Given the description of an element on the screen output the (x, y) to click on. 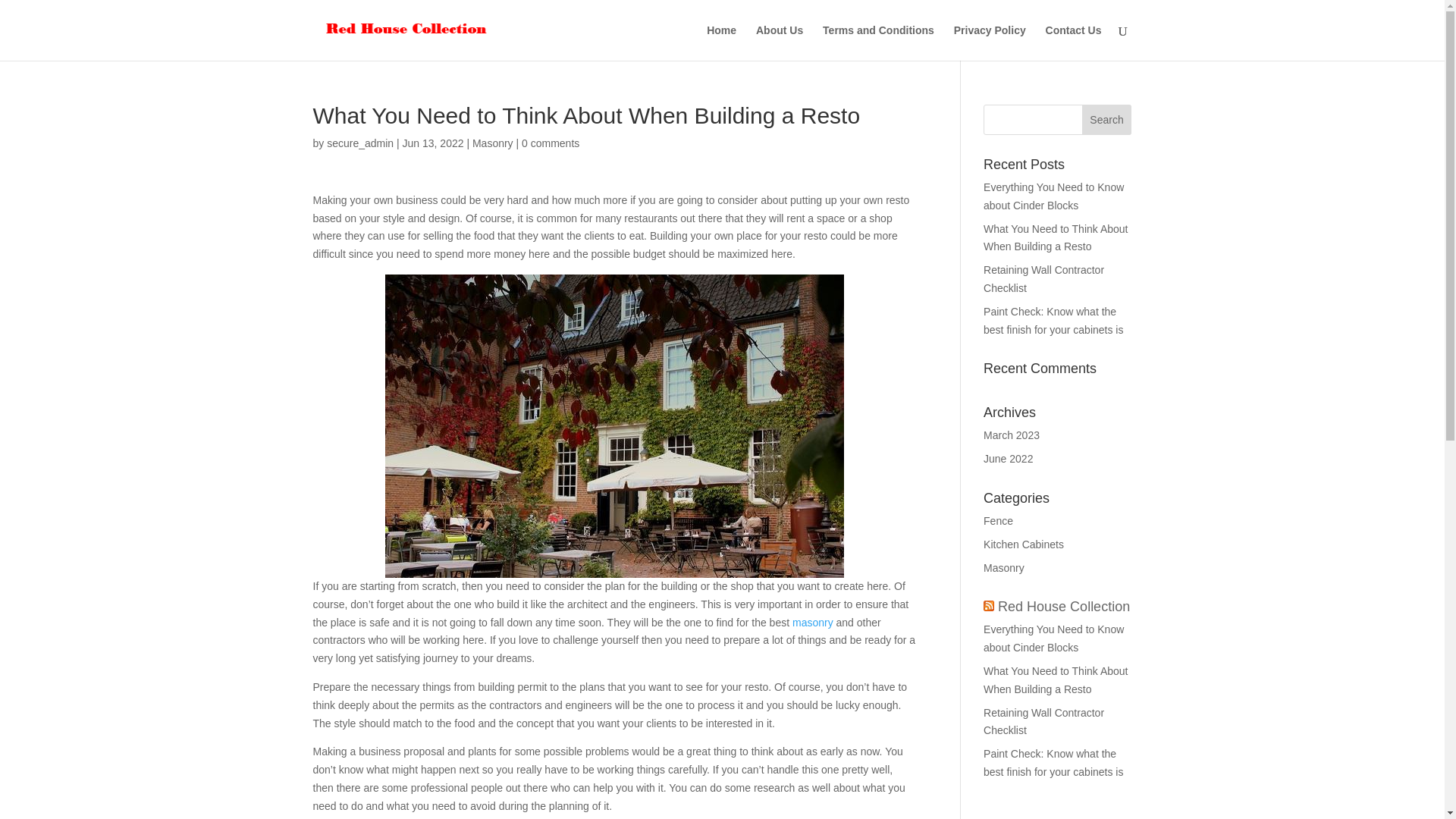
Privacy Policy (989, 42)
June 2022 (1008, 458)
March 2023 (1011, 435)
Contact Us (1073, 42)
0 comments (550, 143)
Everything You Need to Know about Cinder Blocks (1054, 195)
Retaining Wall Contractor Checklist  (1043, 721)
About Us (779, 42)
Fence (998, 521)
Kitchen Cabinets (1024, 544)
What You Need to Think About When Building a Resto  (1055, 680)
Masonry (1004, 567)
Paint Check: Know what the best finish for your cabinets is  (1054, 320)
Search (1106, 119)
What You Need to Think About When Building a Resto  (1055, 237)
